Given the description of an element on the screen output the (x, y) to click on. 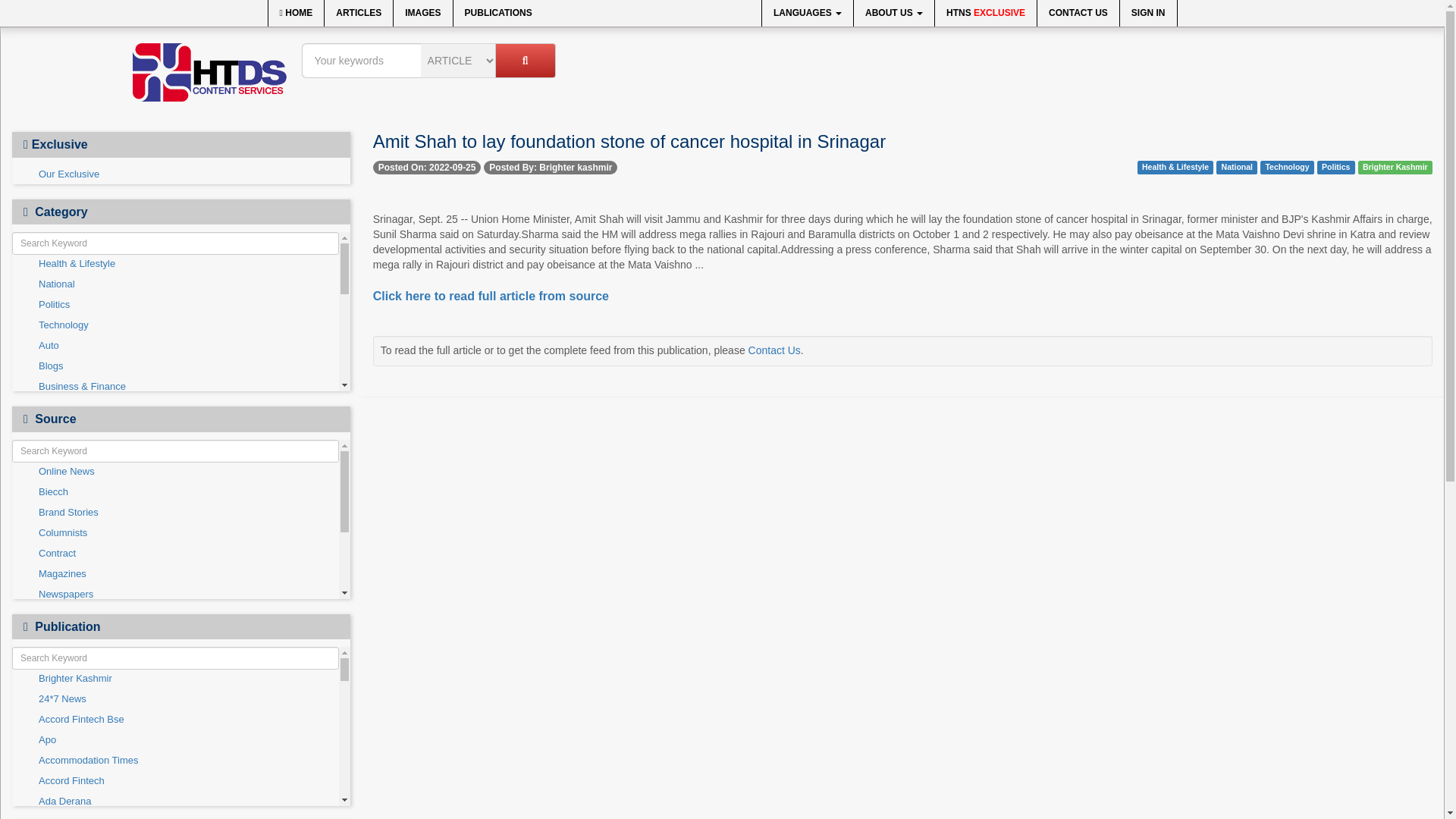
Press Release (175, 571)
Blogs (175, 366)
Government News (175, 509)
Education (175, 448)
Technology (175, 325)
Columnists (175, 427)
PUBLICATIONS (497, 13)
Others (175, 550)
Education (175, 447)
National (175, 284)
Employment (175, 468)
HTDS Content Services (209, 72)
International (175, 529)
HTNS EXCLUSIVE (985, 13)
Auto (175, 345)
